Given the description of an element on the screen output the (x, y) to click on. 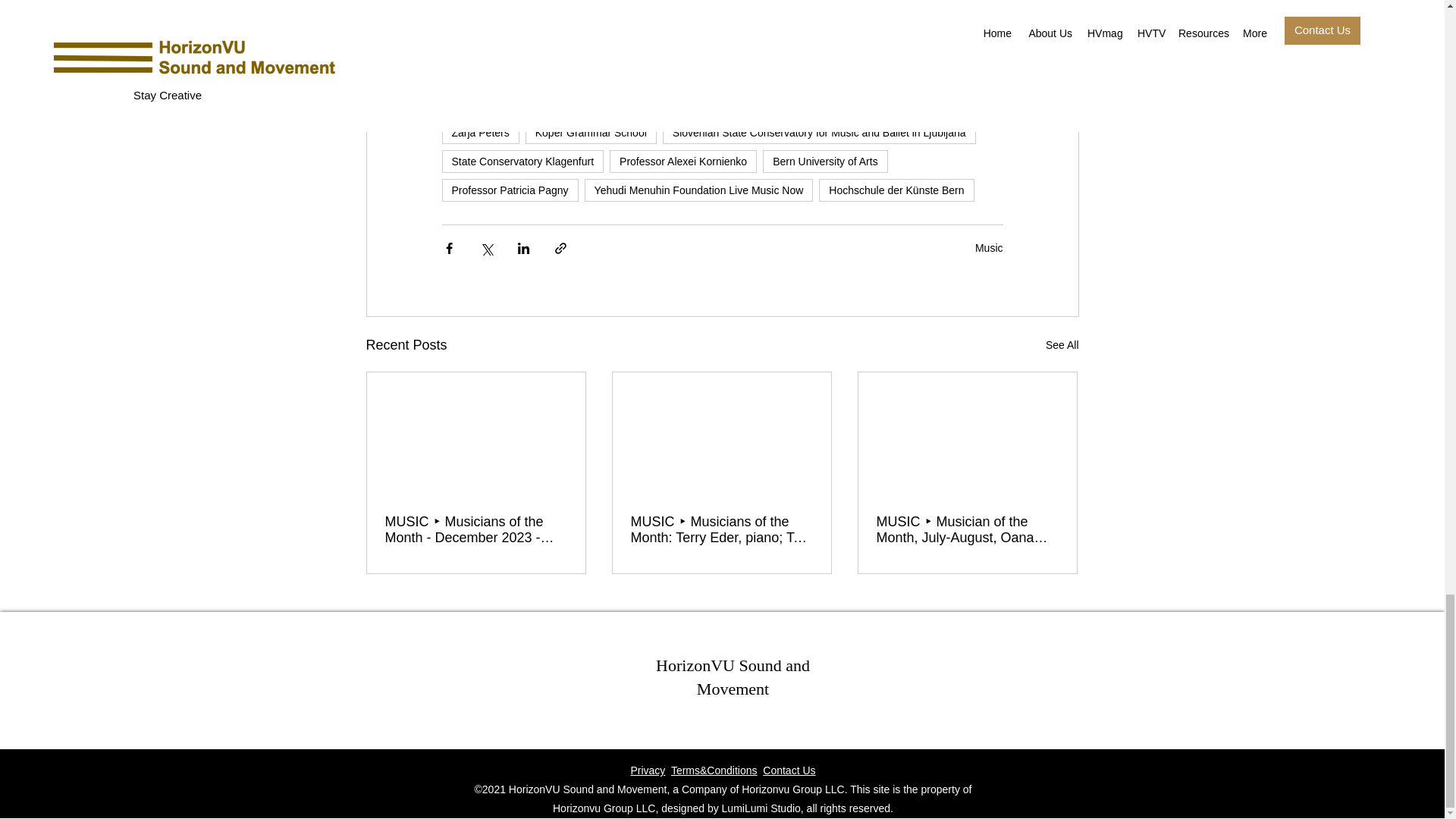
Zarja Peters (479, 132)
Professor Patricia Pagny (509, 190)
Koper Grammar School (590, 132)
Bern University of Arts (825, 160)
See All (1061, 345)
Music (989, 247)
Professor Alexei Kornienko (683, 160)
State Conservatory Klagenfurt (522, 160)
Yehudi Menuhin Foundation Live Music Now (699, 190)
